Given the description of an element on the screen output the (x, y) to click on. 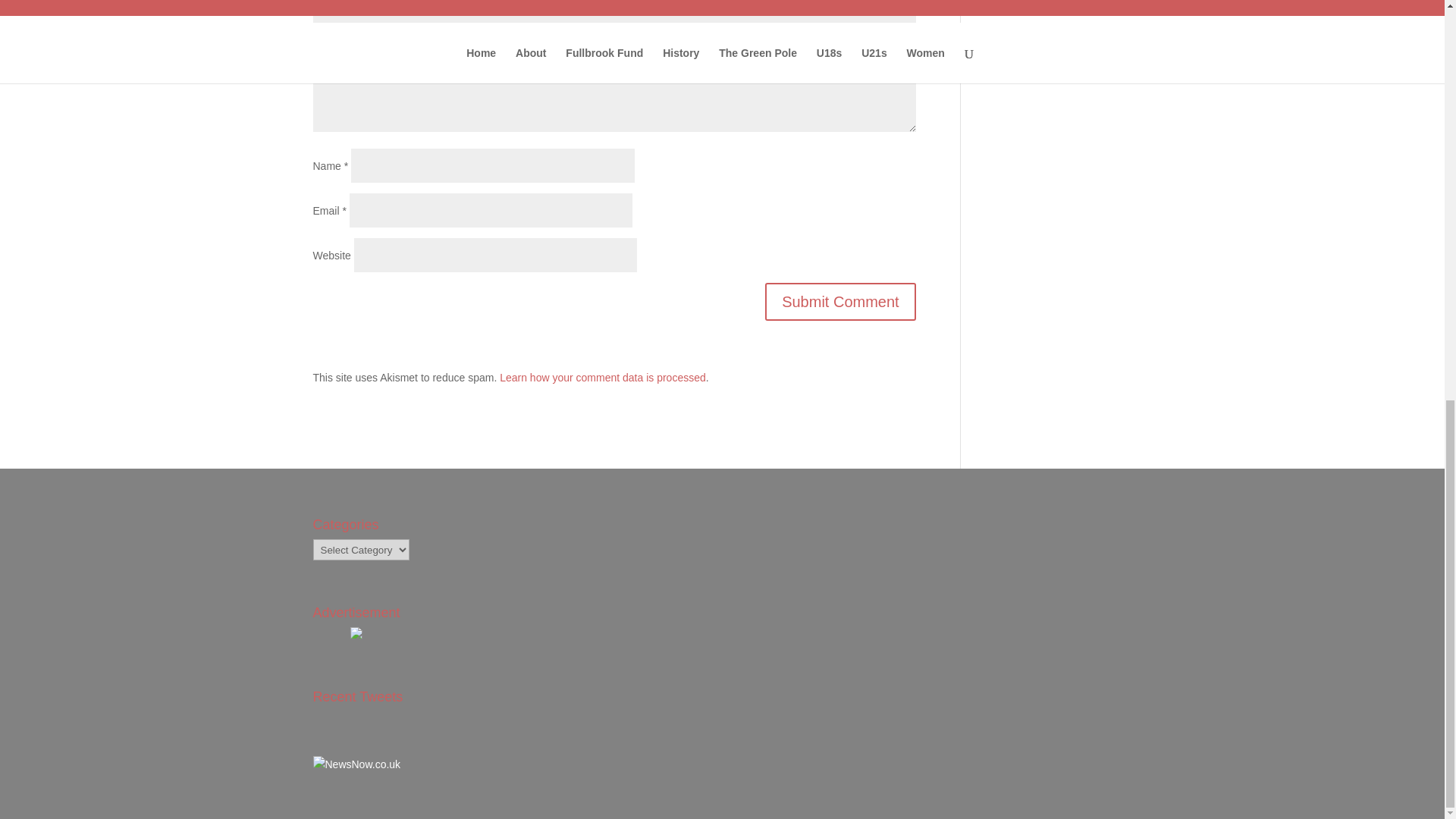
Submit Comment (840, 301)
